Given the description of an element on the screen output the (x, y) to click on. 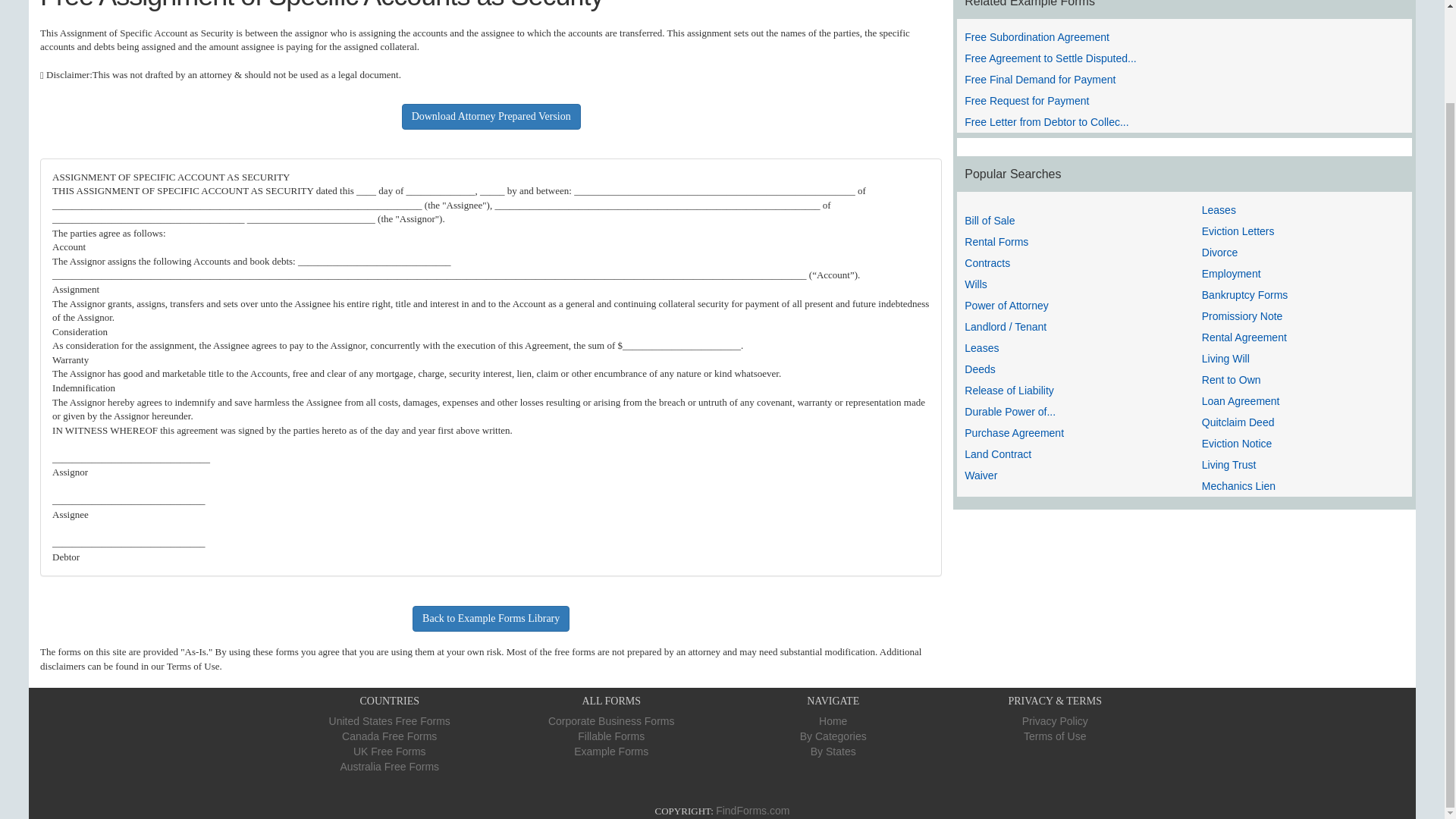
Release of Liability (1008, 390)
Back to Example Forms Library (490, 618)
Purchase Agreement (1013, 432)
Free Request for Payment (1026, 101)
Leases (1219, 209)
Land Contract (996, 453)
Bankruptcy Forms (1245, 295)
Download Attorney Prepared Version (490, 116)
Eviction Letters (1238, 231)
Leases (980, 347)
